Given the description of an element on the screen output the (x, y) to click on. 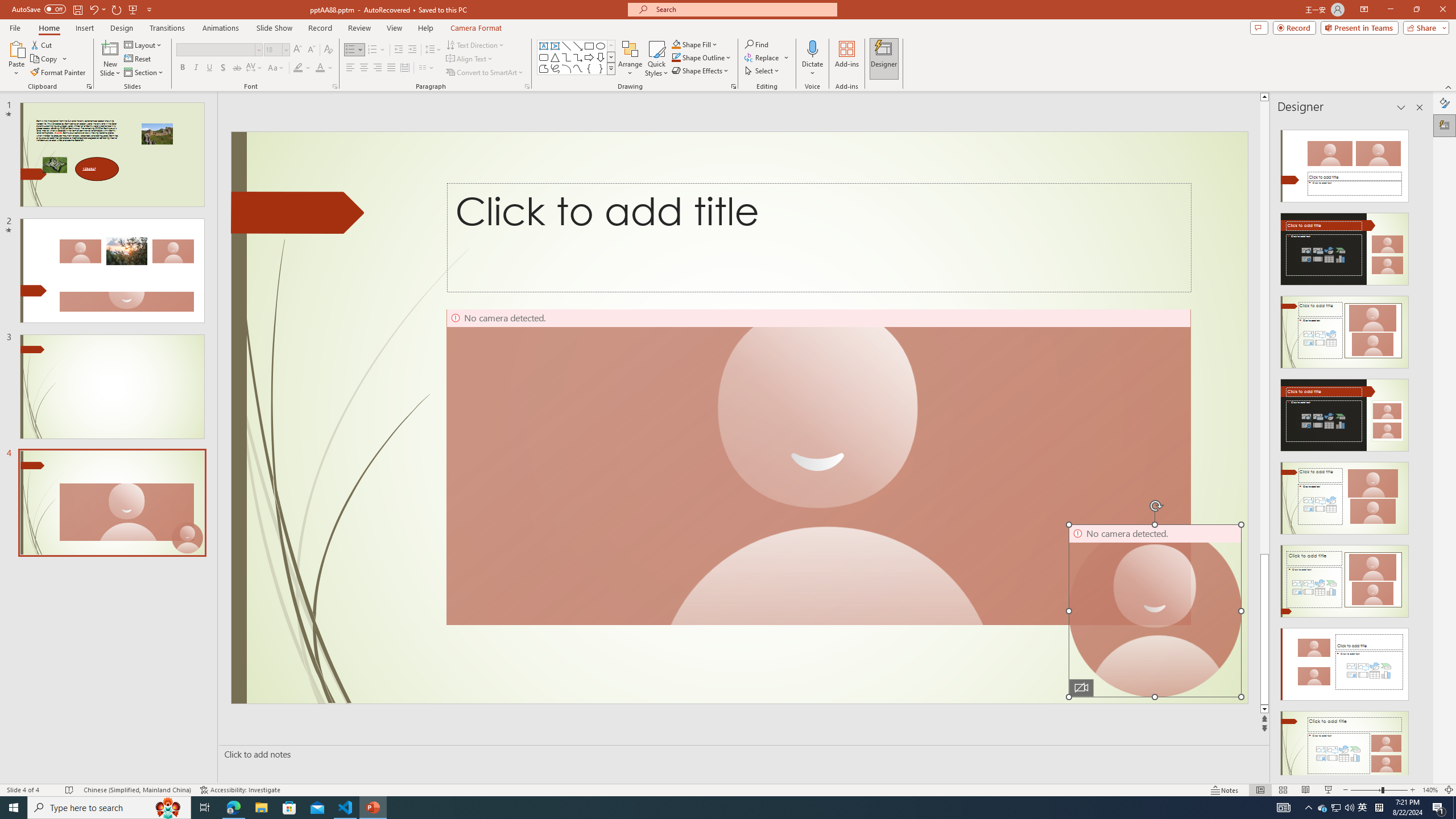
Shape Outline Teal, Accent 1 (675, 56)
Recommended Design: Design Idea (1344, 162)
Shape Effects (700, 69)
